Given the description of an element on the screen output the (x, y) to click on. 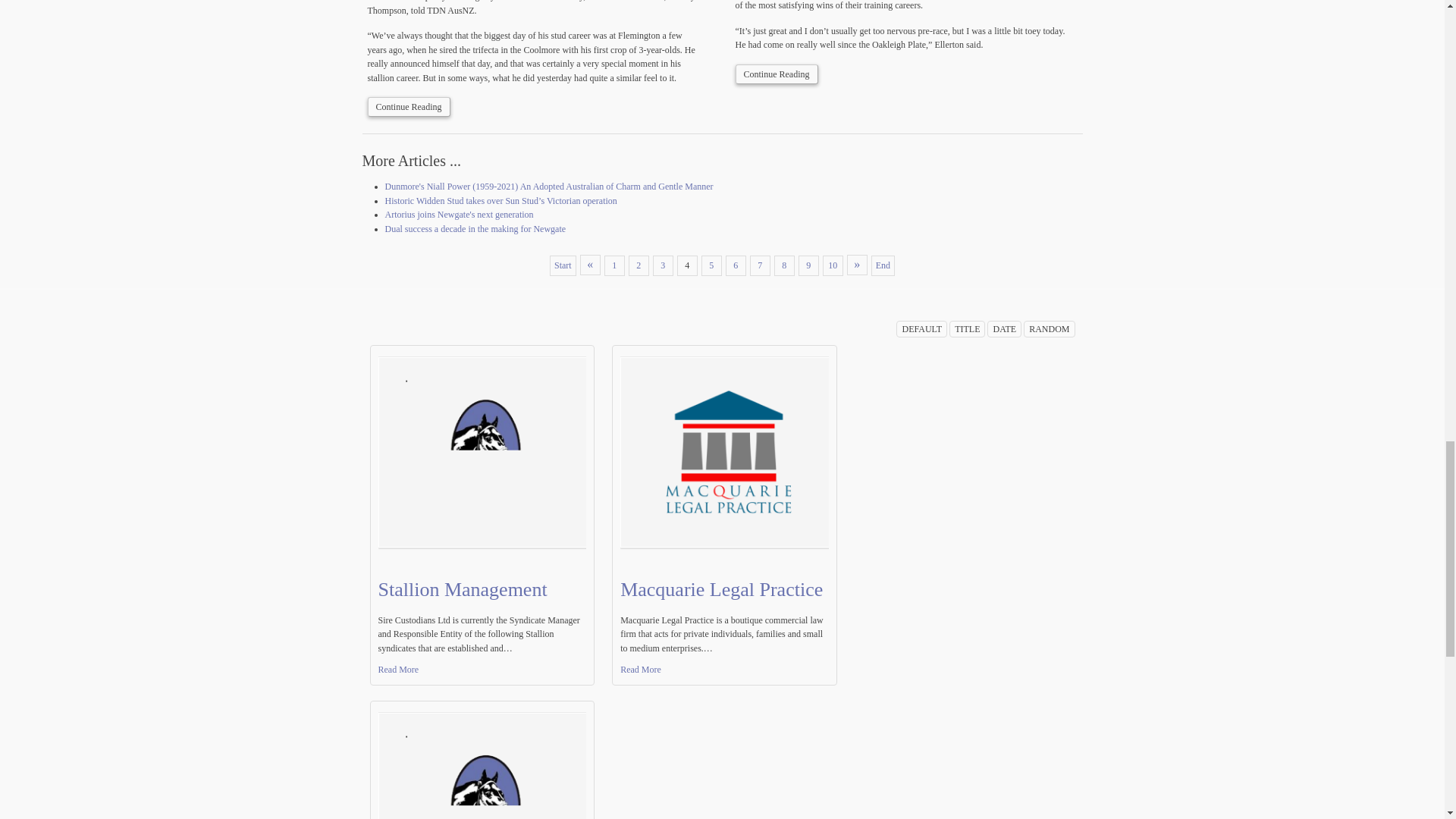
Macquarie Legal Practice (721, 589)
6 (735, 265)
8 (784, 265)
7 (759, 265)
3 (662, 265)
3 (662, 265)
9 (807, 265)
7 (759, 265)
5 (711, 265)
1 (614, 265)
